Given the description of an element on the screen output the (x, y) to click on. 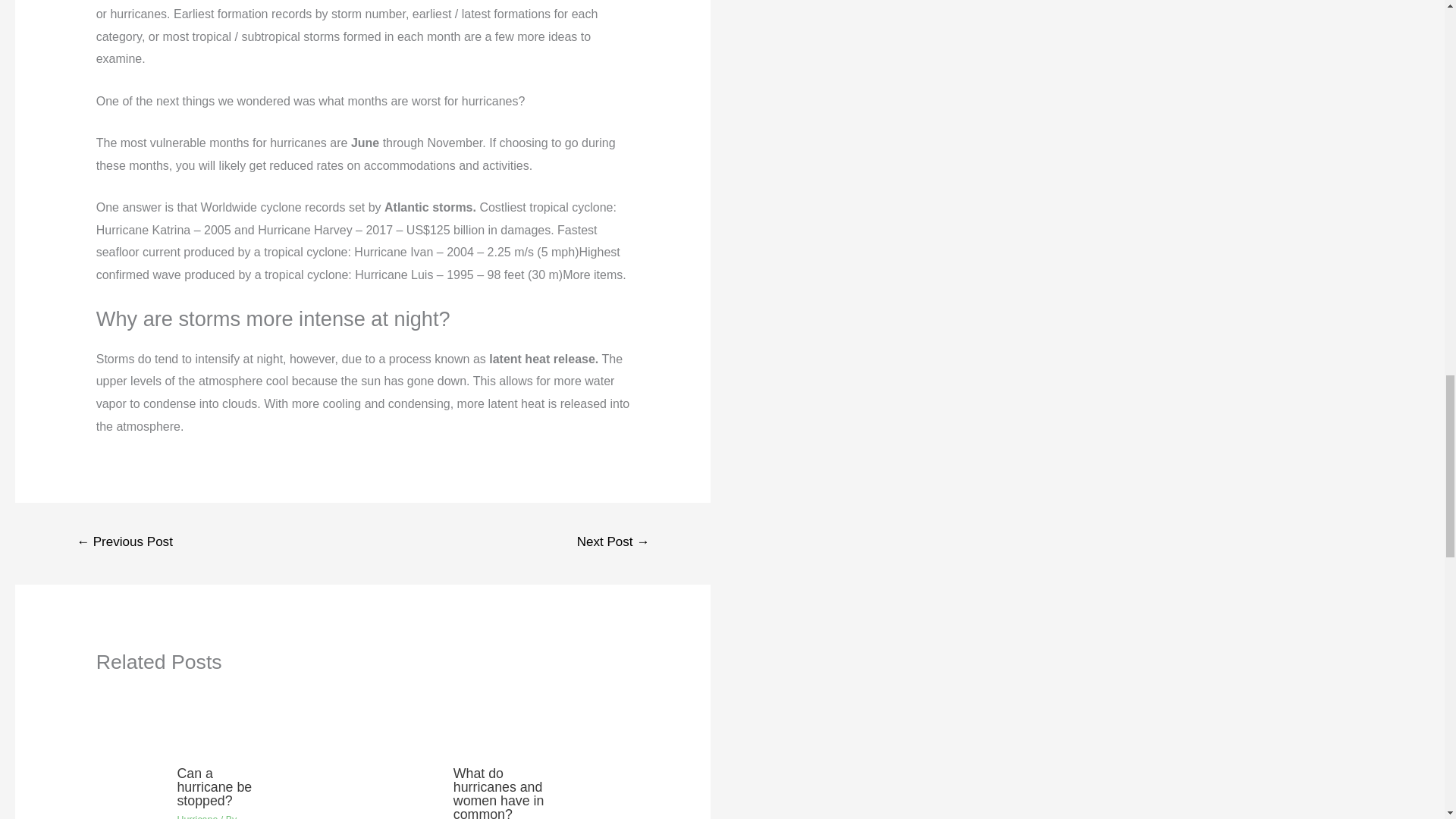
Hurricane (196, 816)
What do hurricanes and women have in common? (498, 792)
Can a hurricane be stopped? (213, 786)
